Given the description of an element on the screen output the (x, y) to click on. 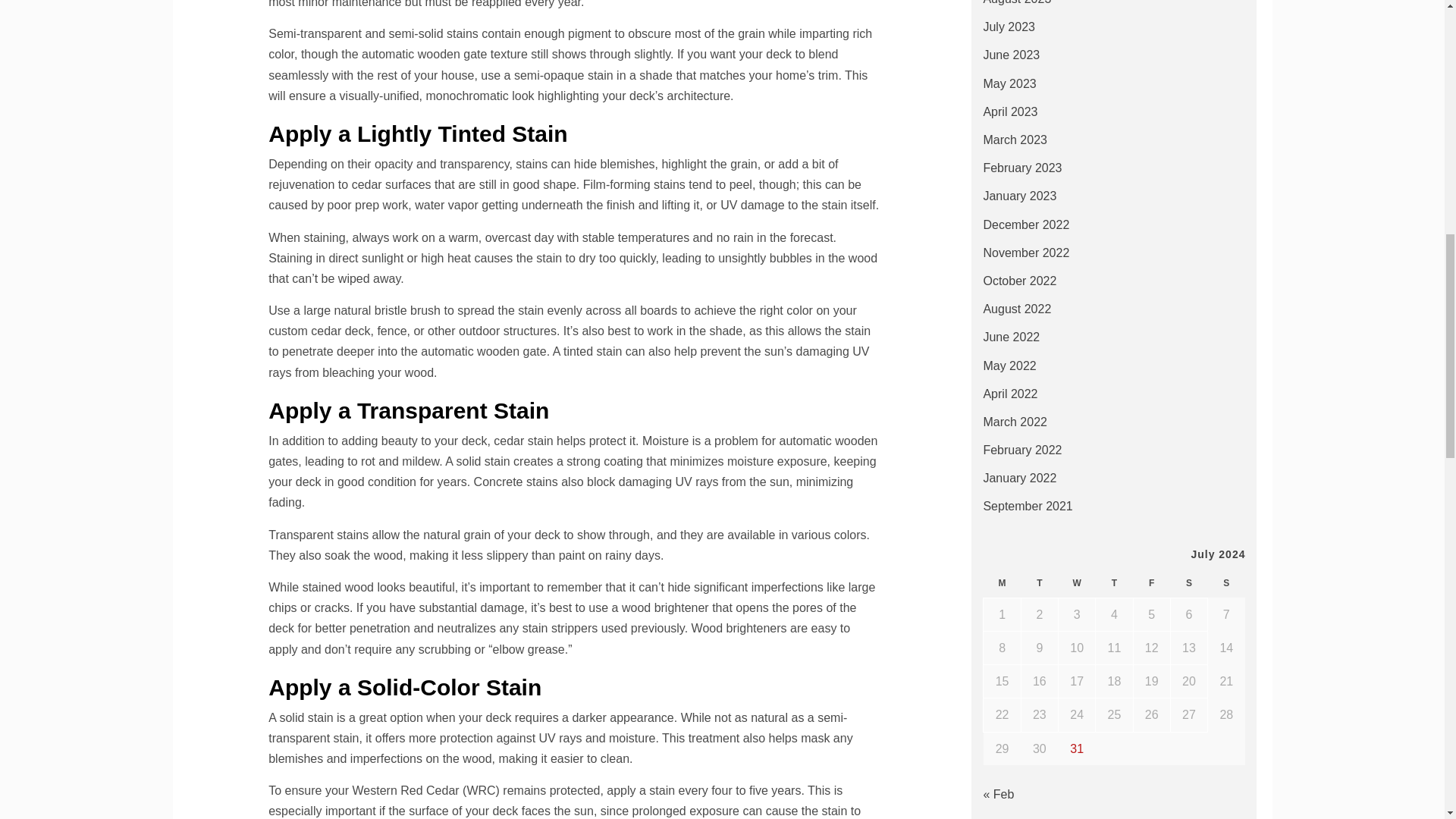
Tuesday (1039, 583)
Sunday (1226, 583)
Thursday (1114, 583)
Wednesday (1077, 583)
Friday (1151, 583)
Saturday (1188, 583)
Monday (1002, 583)
